Given the description of an element on the screen output the (x, y) to click on. 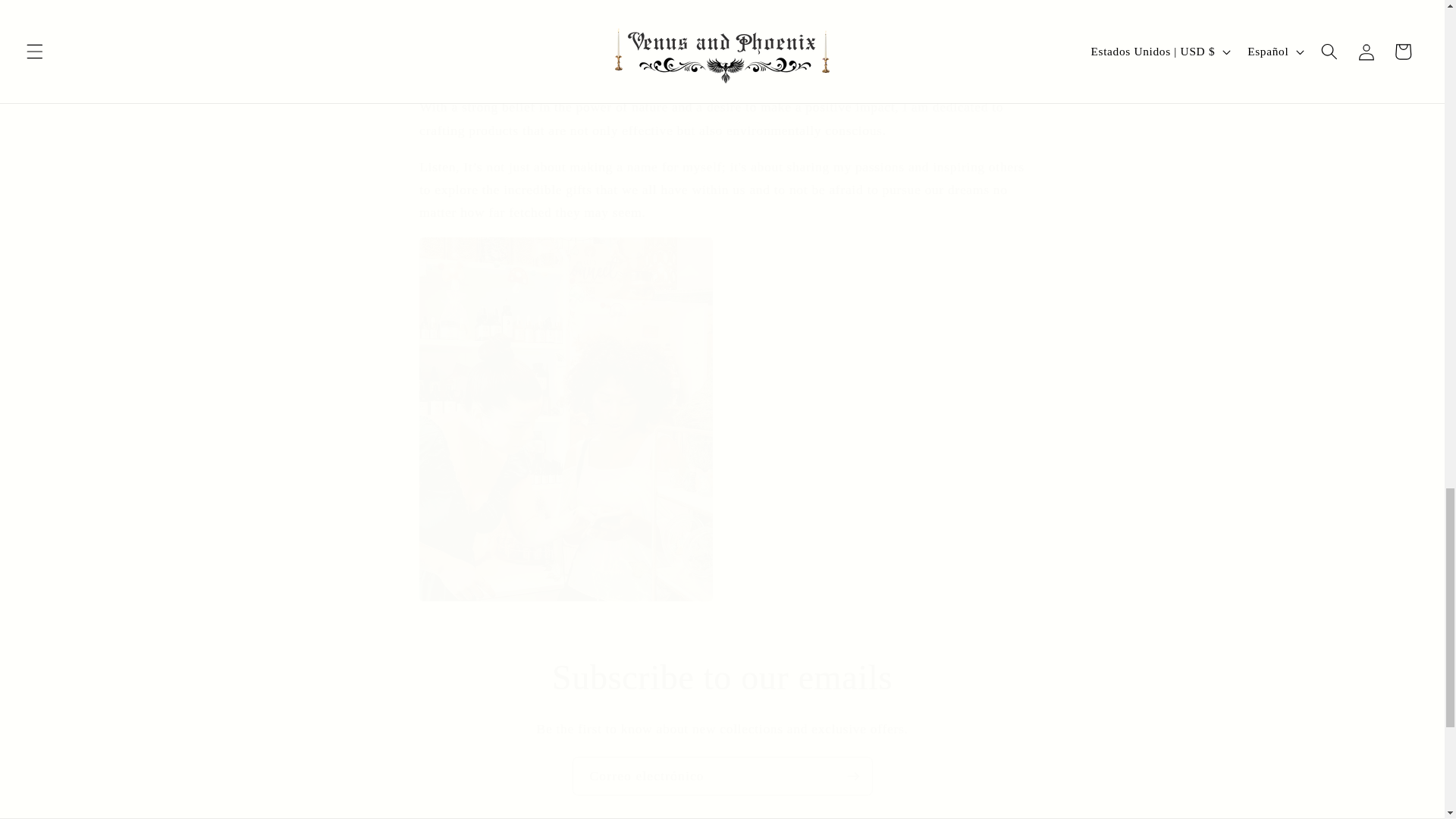
Subscribe to our emails (722, 677)
